Given the description of an element on the screen output the (x, y) to click on. 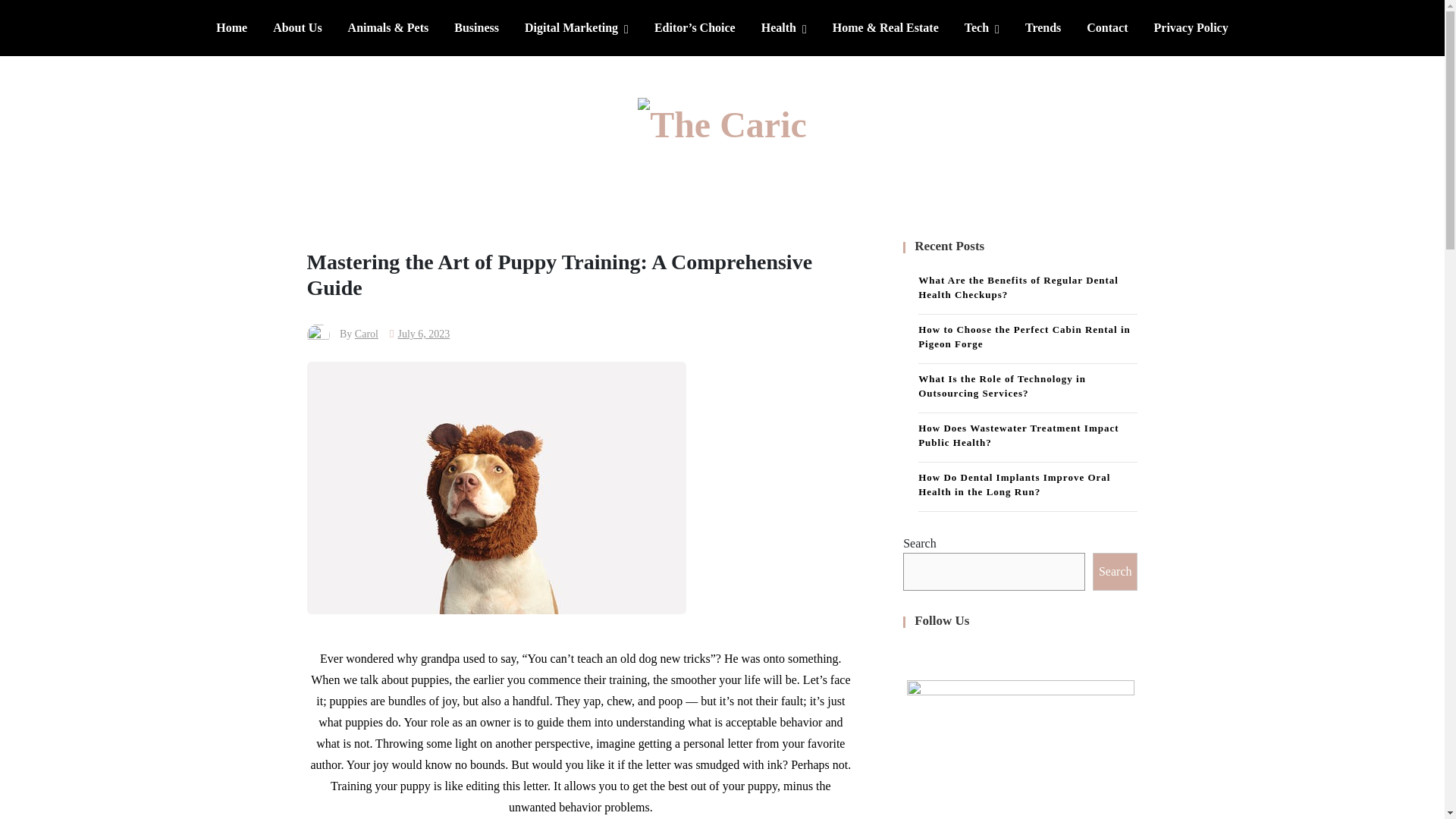
Business (476, 27)
The Caric (568, 175)
Tech (981, 27)
Trends (1042, 27)
Digital Marketing (576, 27)
Privacy Policy (1191, 27)
Contact (1106, 27)
Health (783, 27)
Carol (366, 333)
About Us (297, 27)
